Given the description of an element on the screen output the (x, y) to click on. 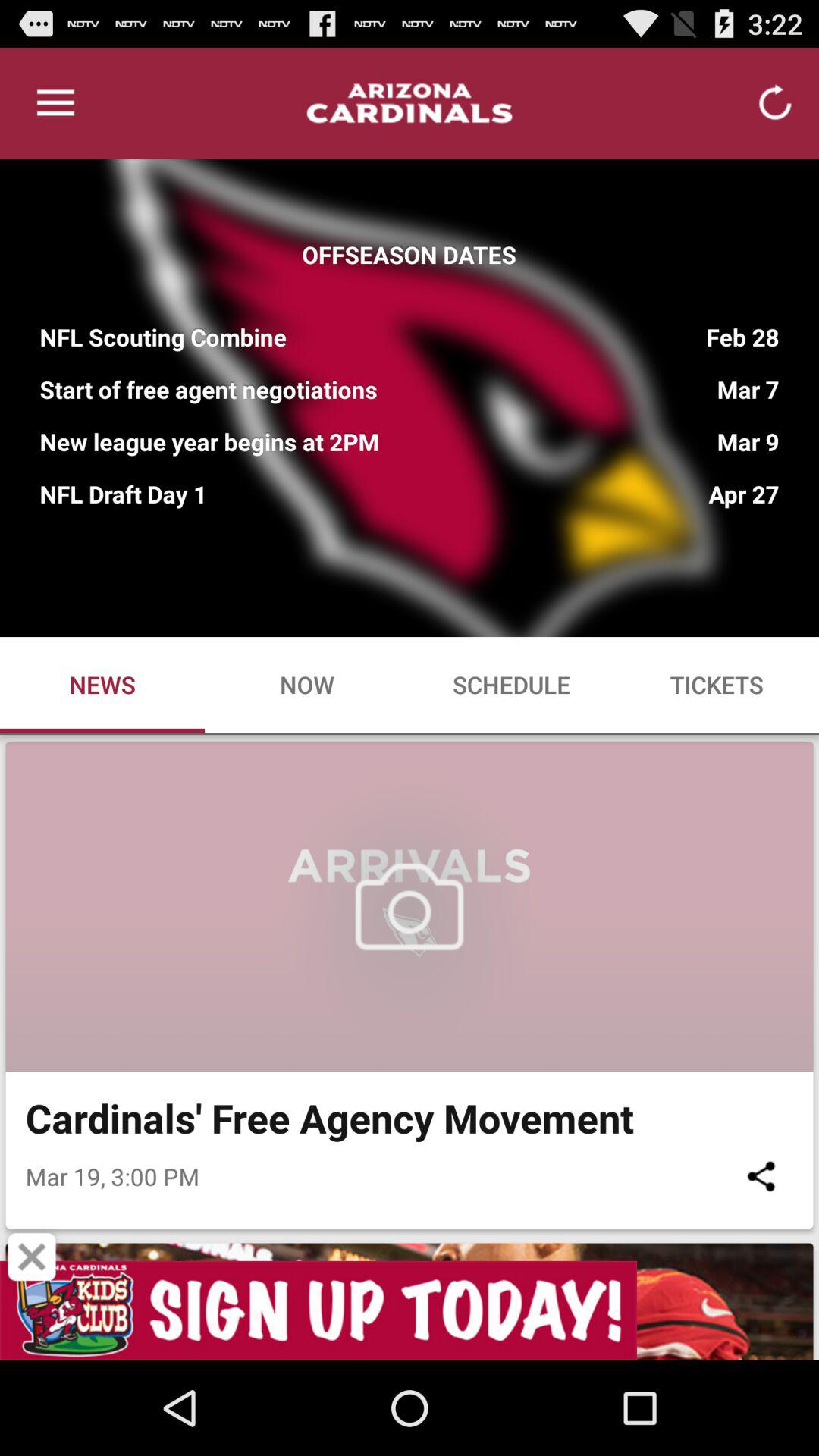
select icon below the mar 19 3 item (31, 1256)
